Given the description of an element on the screen output the (x, y) to click on. 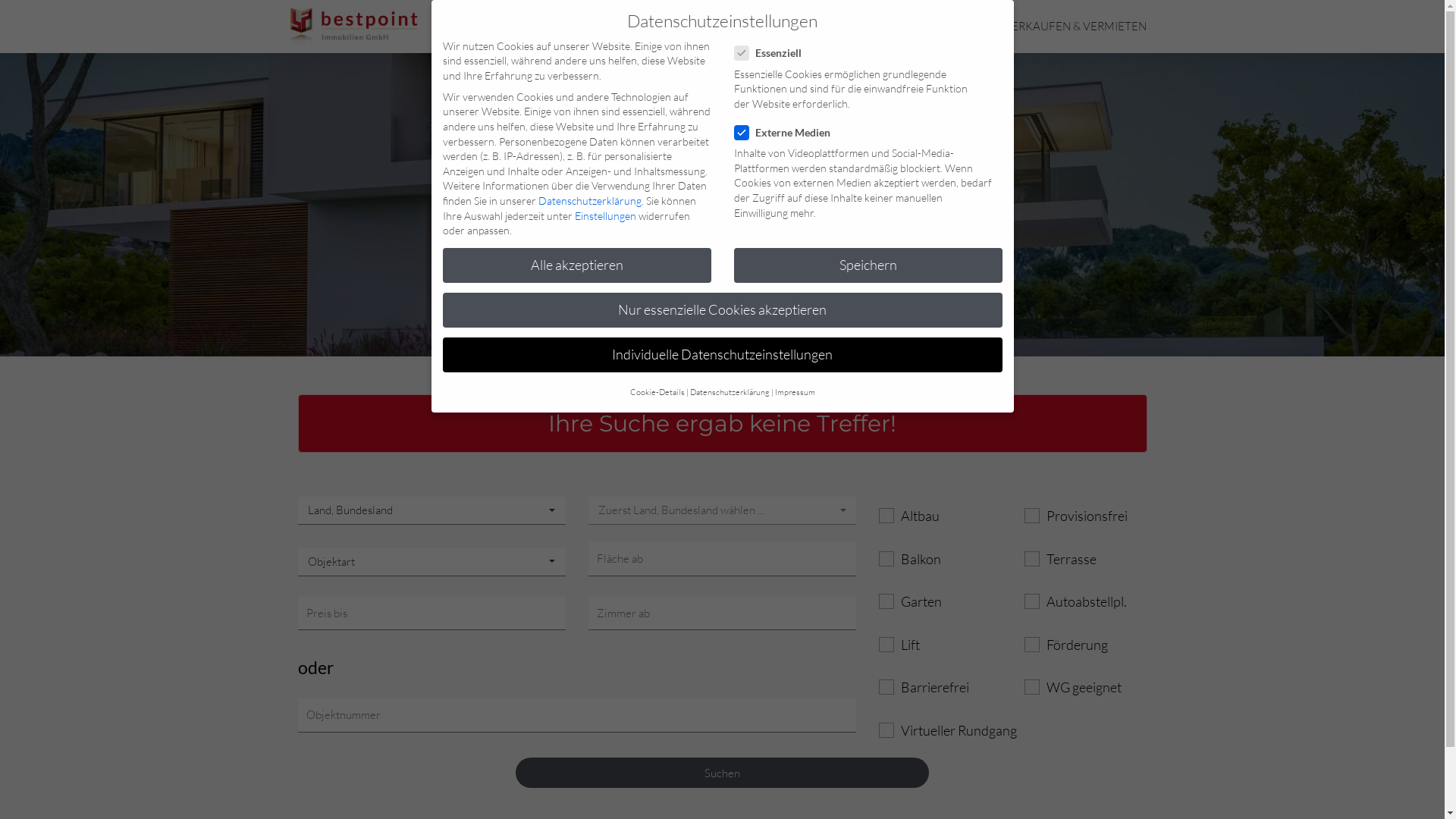
Suchen Element type: text (721, 772)
Impressum Element type: text (795, 392)
VERKAUFEN & VERMIETEN Element type: text (1075, 26)
Einstellungen Element type: text (605, 215)
Objektart Element type: text (430, 562)
Alle akzeptieren Element type: text (576, 264)
Cookie-Details Element type: text (656, 392)
IMMOBILIENSUCHE Element type: text (786, 26)
AKTUELLE IMMOBILIEN Element type: text (921, 26)
Nur essenzielle Cookies akzeptieren Element type: text (722, 309)
Speichern Element type: text (868, 264)
Land, Bundesland Element type: text (430, 510)
Individuelle Datenschutzeinstellungen Element type: text (722, 354)
